Given the description of an element on the screen output the (x, y) to click on. 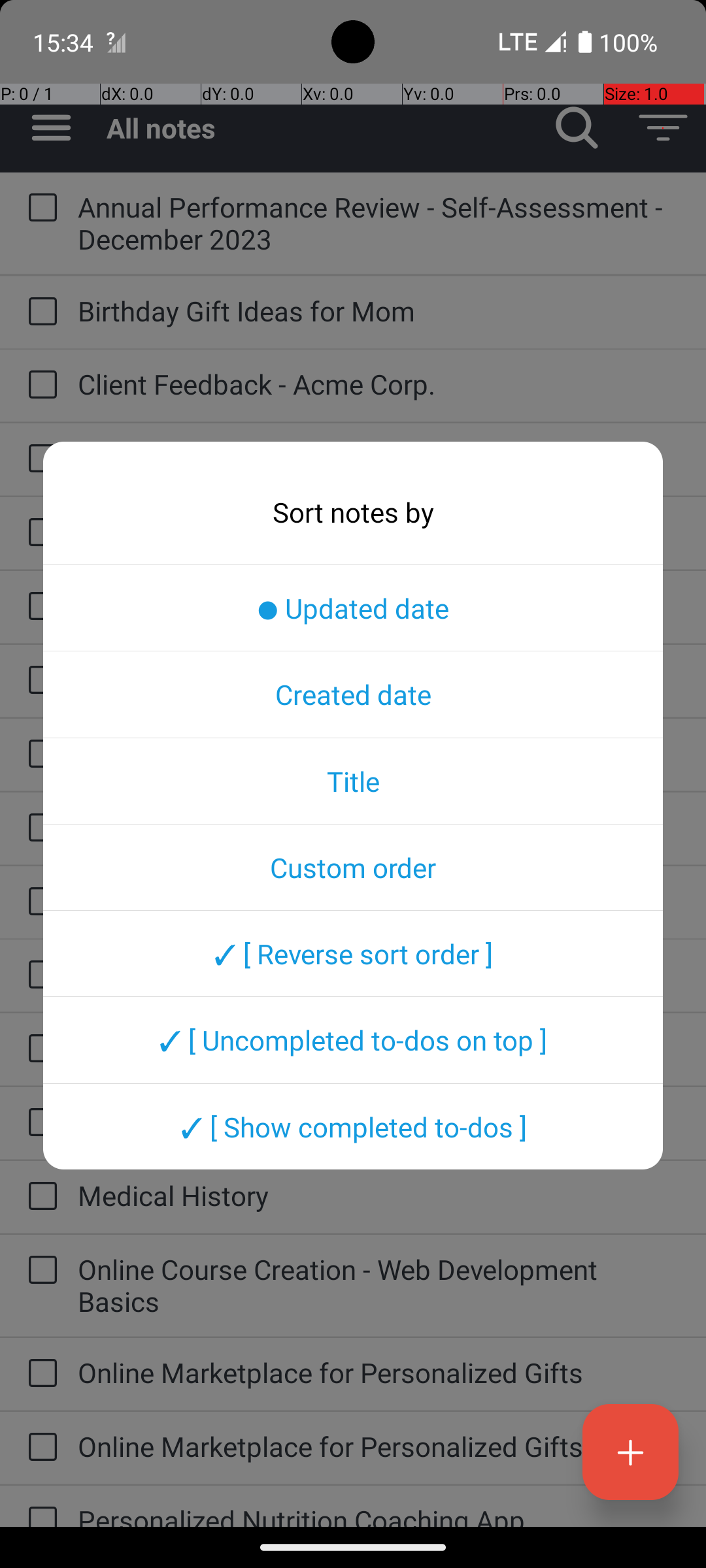
⬤ Updated date Element type: android.widget.TextView (352, 607)
Created date Element type: android.widget.TextView (352, 693)
Custom order Element type: android.widget.TextView (352, 866)
✓ [ Reverse sort order ] Element type: android.widget.TextView (352, 953)
✓ [ Uncompleted to-dos on top ] Element type: android.widget.TextView (352, 1039)
✓ [ Show completed to-dos ] Element type: android.widget.TextView (352, 1126)
to-do: Birthday Gift Ideas for Mom Element type: android.widget.CheckBox (38, 312)
Birthday Gift Ideas for Mom Element type: android.widget.TextView (378, 310)
to-do: Client Feedback - Acme Corp. Element type: android.widget.CheckBox (38, 385)
Client Feedback - Acme Corp. Element type: android.widget.TextView (378, 383)
to-do: Client Meeting - Acme Corp. - April 25, 2024 Element type: android.widget.CheckBox (38, 459)
Client Meeting - Acme Corp. - April 25, 2024 Element type: android.widget.TextView (378, 457)
to-do: Company Policies and Procedures Element type: android.widget.CheckBox (38, 533)
Company Policies and Procedures Element type: android.widget.TextView (378, 531)
to-do: Creamy Tomato Soup Element type: android.widget.CheckBox (38, 606)
Creamy Tomato Soup Element type: android.widget.TextView (378, 604)
to-do: File Taxes Element type: android.widget.CheckBox (38, 680)
File Taxes Element type: android.widget.TextView (378, 678)
to-do: Food Delivery Service for Dietary Restrictions Element type: android.widget.CheckBox (38, 828)
Food Delivery Service for Dietary Restrictions Element type: android.widget.TextView (378, 826)
to-do: Home Improvement Projects Element type: android.widget.CheckBox (38, 902)
Home Improvement Projects Element type: android.widget.TextView (378, 900)
to-do: Home Maintenance Schedule Element type: android.widget.CheckBox (38, 975)
Home Maintenance Schedule Element type: android.widget.TextView (378, 973)
to-do: Language Learning App Element type: android.widget.CheckBox (38, 1049)
Language Learning App Element type: android.widget.TextView (378, 1047)
to-do: Medical History Element type: android.widget.CheckBox (38, 1196)
Medical History Element type: android.widget.TextView (378, 1194)
to-do: Online Course Creation - Web Development Basics Element type: android.widget.CheckBox (38, 1270)
Online Course Creation - Web Development Basics Element type: android.widget.TextView (378, 1284)
to-do: Online Marketplace for Personalized Gifts Element type: android.widget.CheckBox (38, 1374)
Online Marketplace for Personalized Gifts Element type: android.widget.TextView (378, 1371)
to-do: Personalized Nutrition Coaching App Element type: android.widget.CheckBox (38, 1505)
Personalized Nutrition Coaching App Element type: android.widget.TextView (378, 1513)
